Given the description of an element on the screen output the (x, y) to click on. 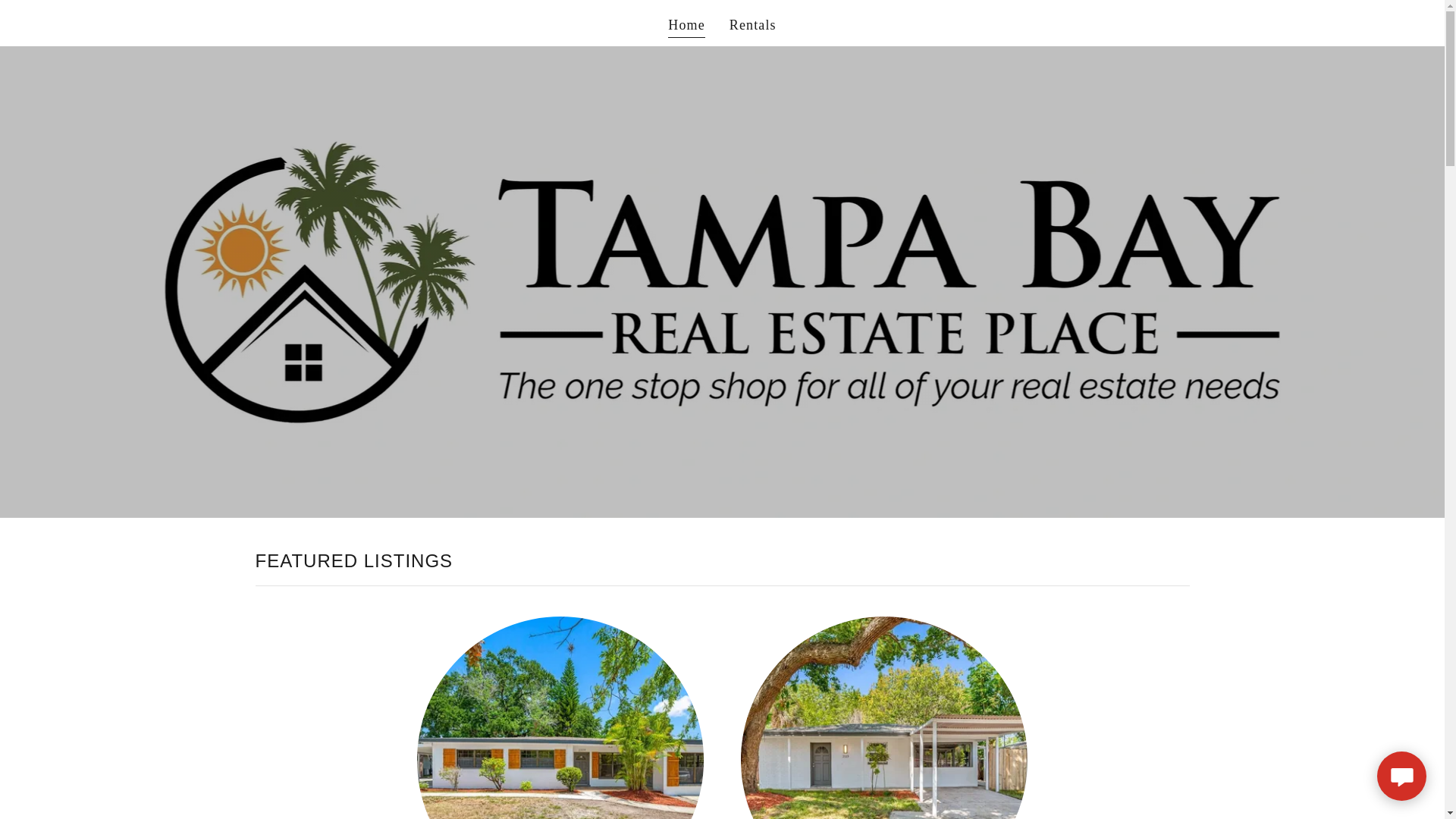
Home (686, 26)
Rentals (752, 24)
